Given the description of an element on the screen output the (x, y) to click on. 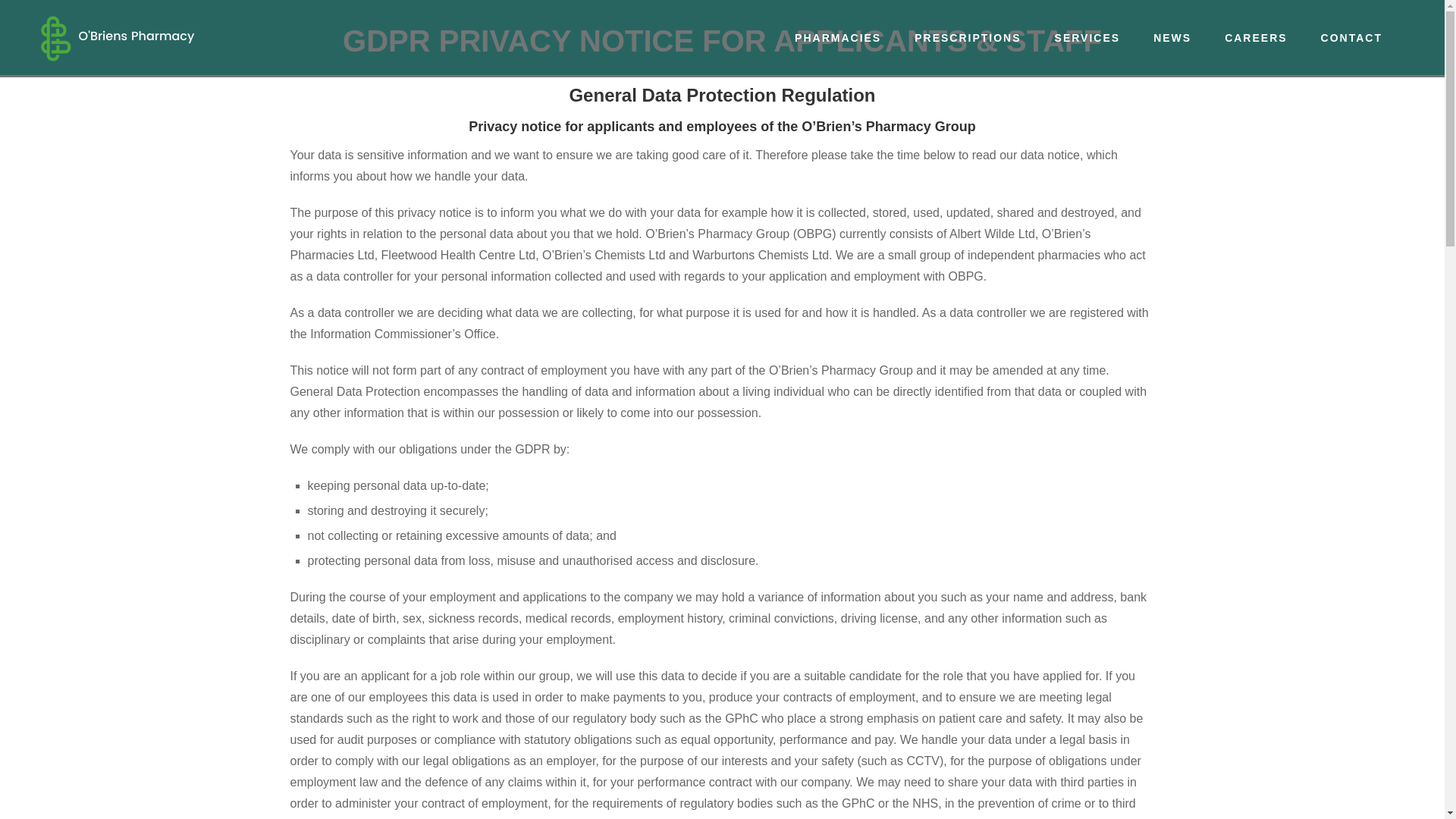
PHARMACIES (837, 38)
O'Brien's Pharmacy Group (116, 37)
PRESCRIPTIONS (967, 38)
